Given the description of an element on the screen output the (x, y) to click on. 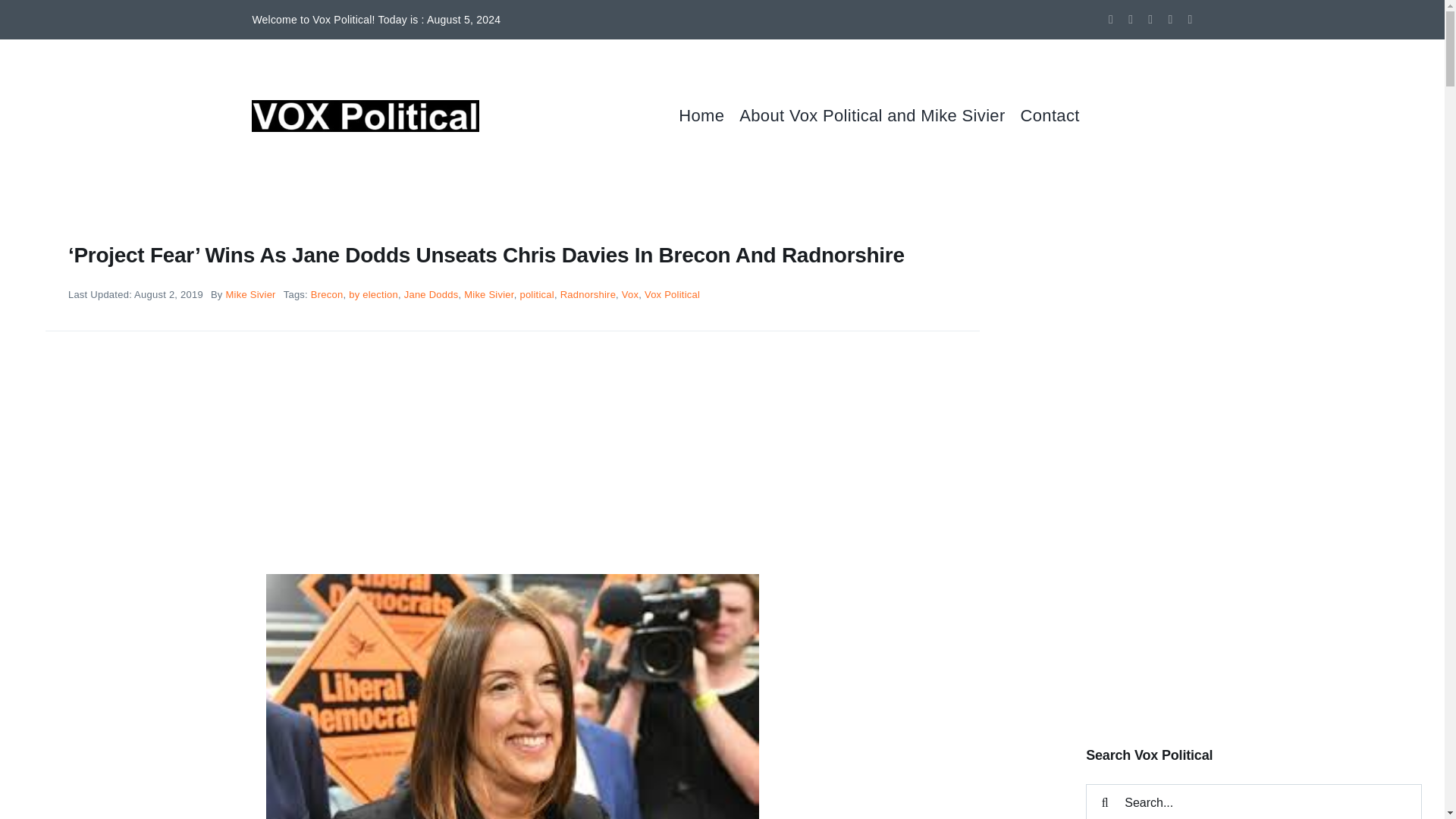
Mike Sivier (488, 294)
political (536, 294)
Vox (630, 294)
by election (373, 294)
Home (708, 115)
Advertisement (1254, 598)
Contact (1057, 115)
About Vox Political and Mike Sivier (879, 115)
Mike Sivier (250, 294)
Vox Political (672, 294)
Brecon (327, 294)
Radnorshire (587, 294)
Posts by Mike Sivier (250, 294)
Jane Dodds (431, 294)
